Given the description of an element on the screen output the (x, y) to click on. 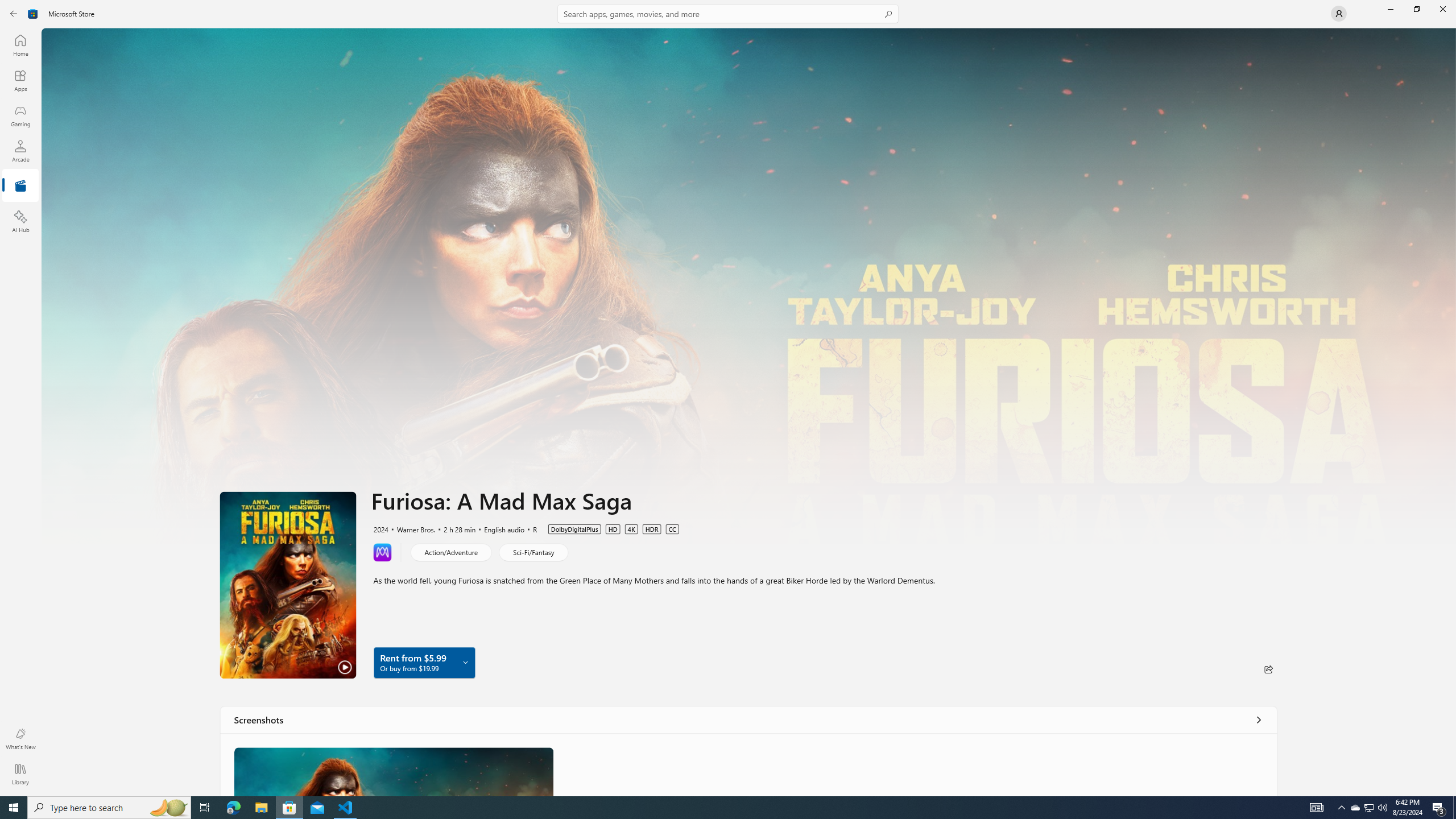
English audio (498, 528)
2 h 28 min (453, 528)
Sci-Fi/Fantasy (533, 551)
Search (727, 13)
Action/Adventure (451, 551)
Class: ListViewItem (393, 771)
2024 (379, 528)
